Given the description of an element on the screen output the (x, y) to click on. 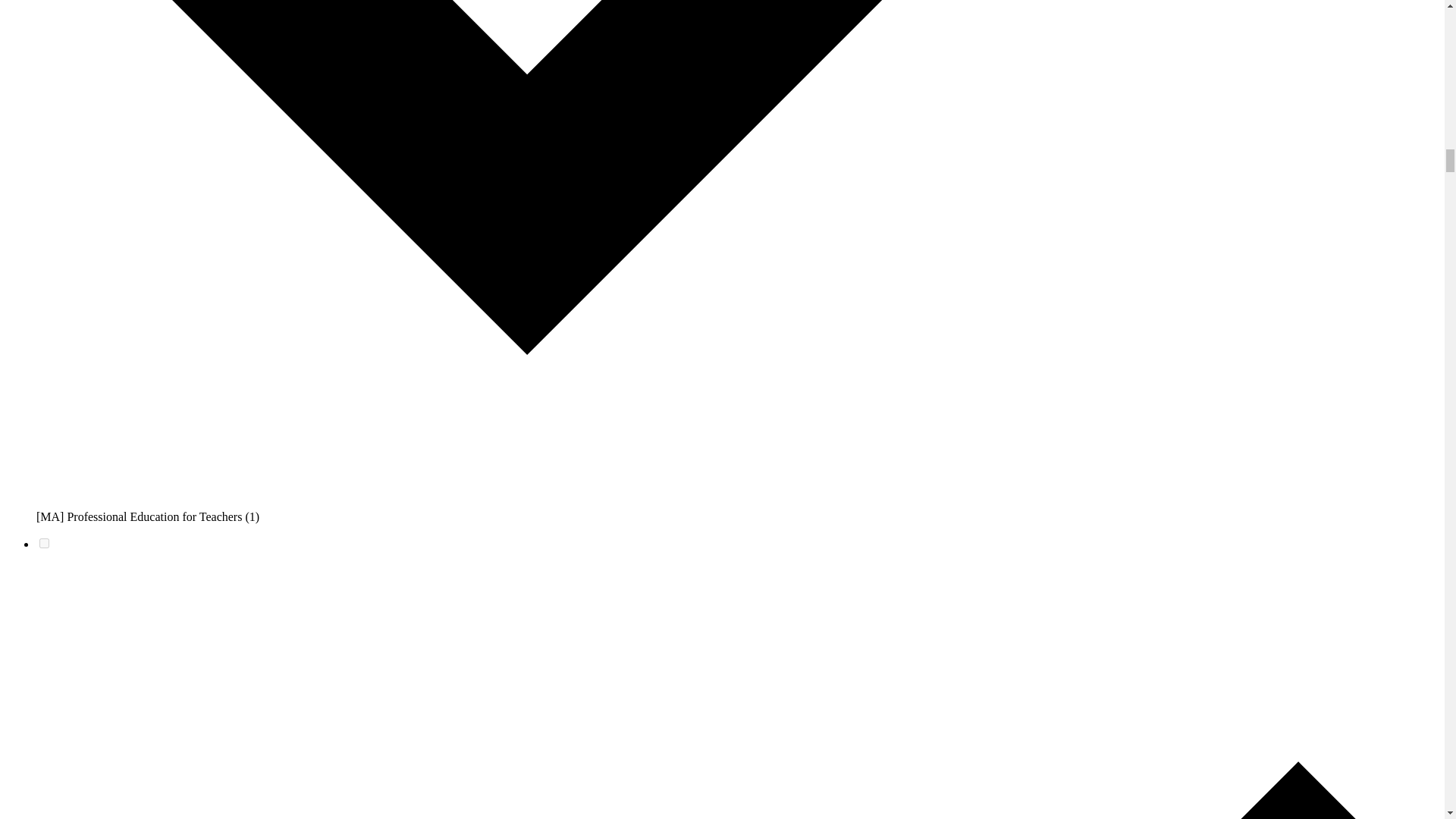
136 (44, 542)
